Given the description of an element on the screen output the (x, y) to click on. 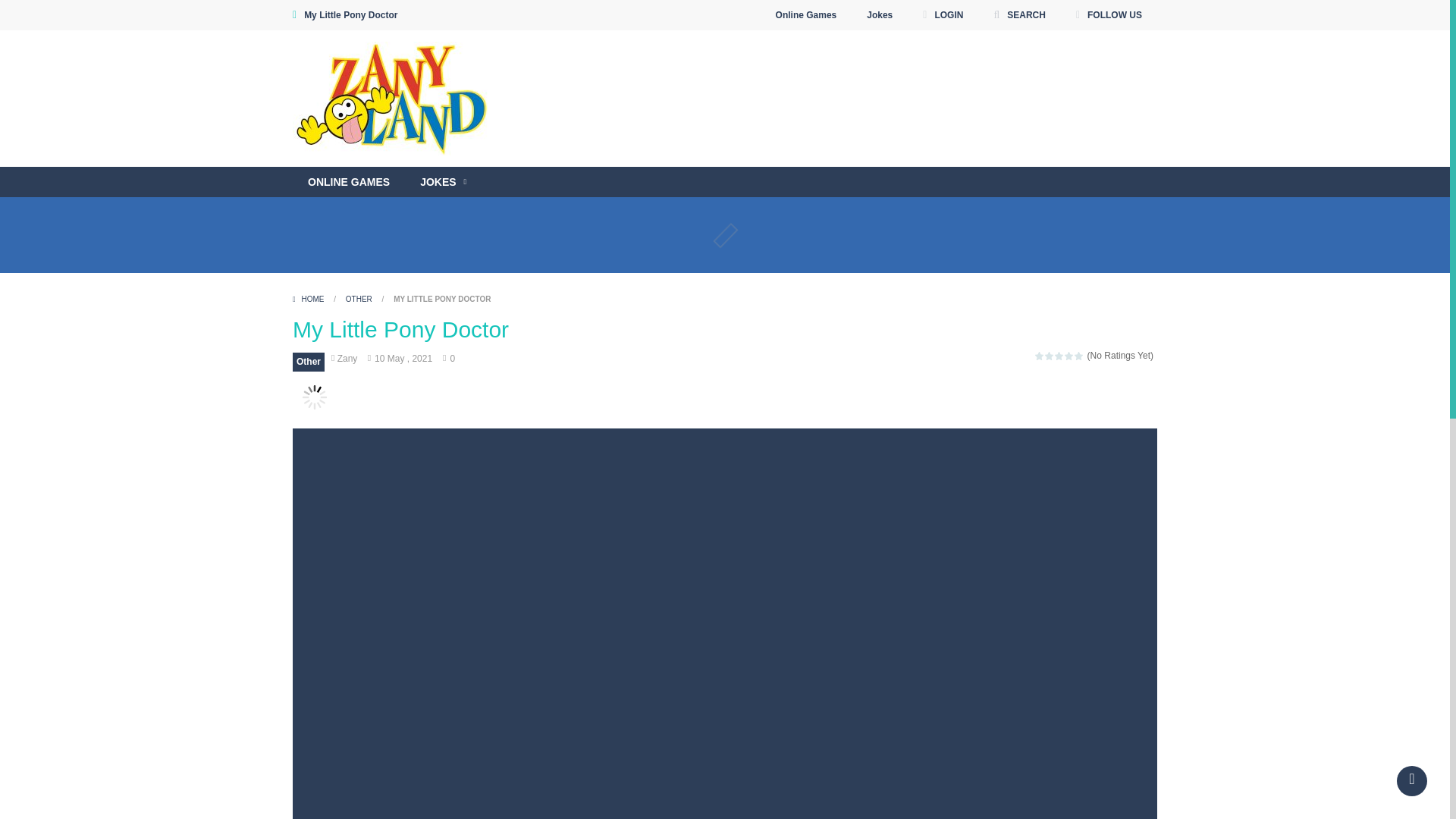
YouTube video player (817, 160)
FOLLOW US (1108, 15)
SEARCH (1019, 15)
Jokes (880, 15)
Online Games (806, 15)
LOGIN (942, 15)
ONLINE GAMES (348, 182)
Play Free Games at ZanyLand (394, 98)
Play Free Games at ZanyLand (394, 97)
JOKES (442, 182)
